Given the description of an element on the screen output the (x, y) to click on. 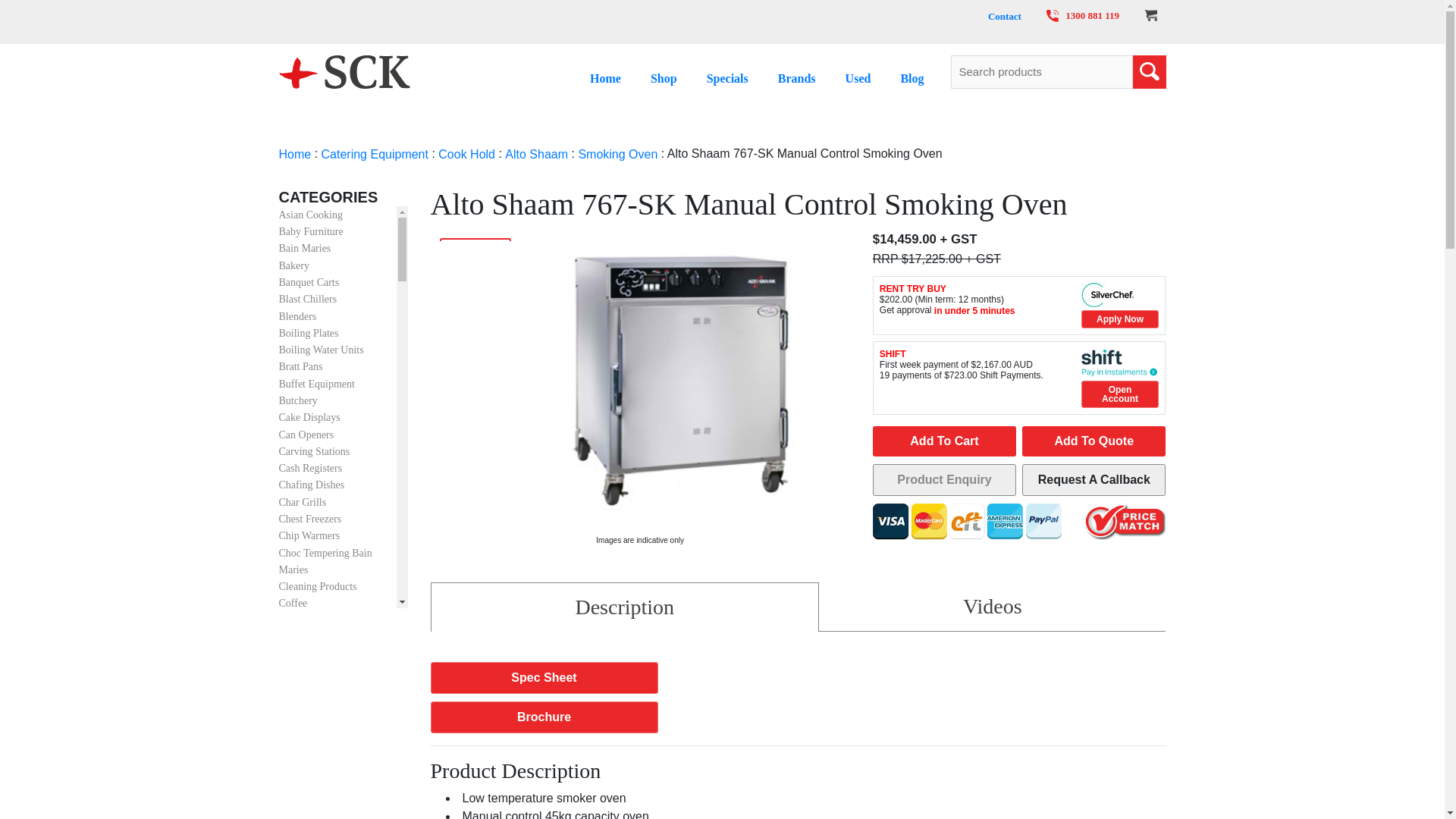
1300 881 119 (1082, 15)
Banquet Carts (309, 282)
Blast Chillers (308, 299)
Can Openers (306, 434)
Boiling Water Units (321, 349)
Shop (663, 77)
Specials (727, 77)
Asian Cooking (310, 214)
Butchery (298, 400)
Bakery (293, 265)
Bain Maries (305, 248)
Enter Product Description or Model Number (1041, 71)
Contact (1005, 16)
Buffet Equipment (317, 383)
